Given the description of an element on the screen output the (x, y) to click on. 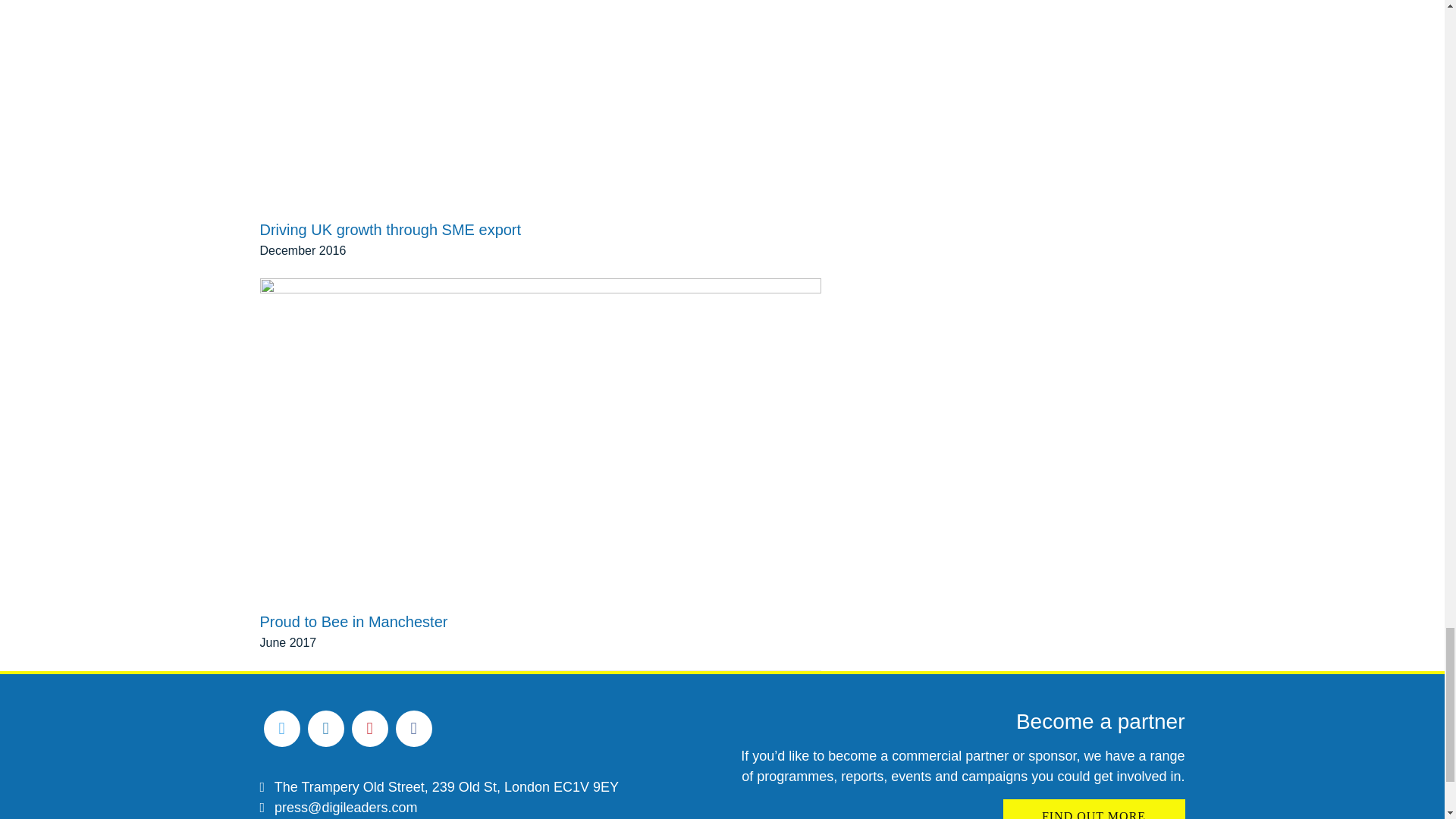
Driving UK growth through SME export (390, 205)
Driving UK growth through SME export (540, 94)
Proud to Bee in Manchester (352, 597)
Facebook (414, 728)
Twitter (281, 728)
Proud to Bee in Manchester (352, 597)
Driving UK growth through SME export (390, 205)
YouTube (370, 728)
LinkedIn (325, 728)
